Given the description of an element on the screen output the (x, y) to click on. 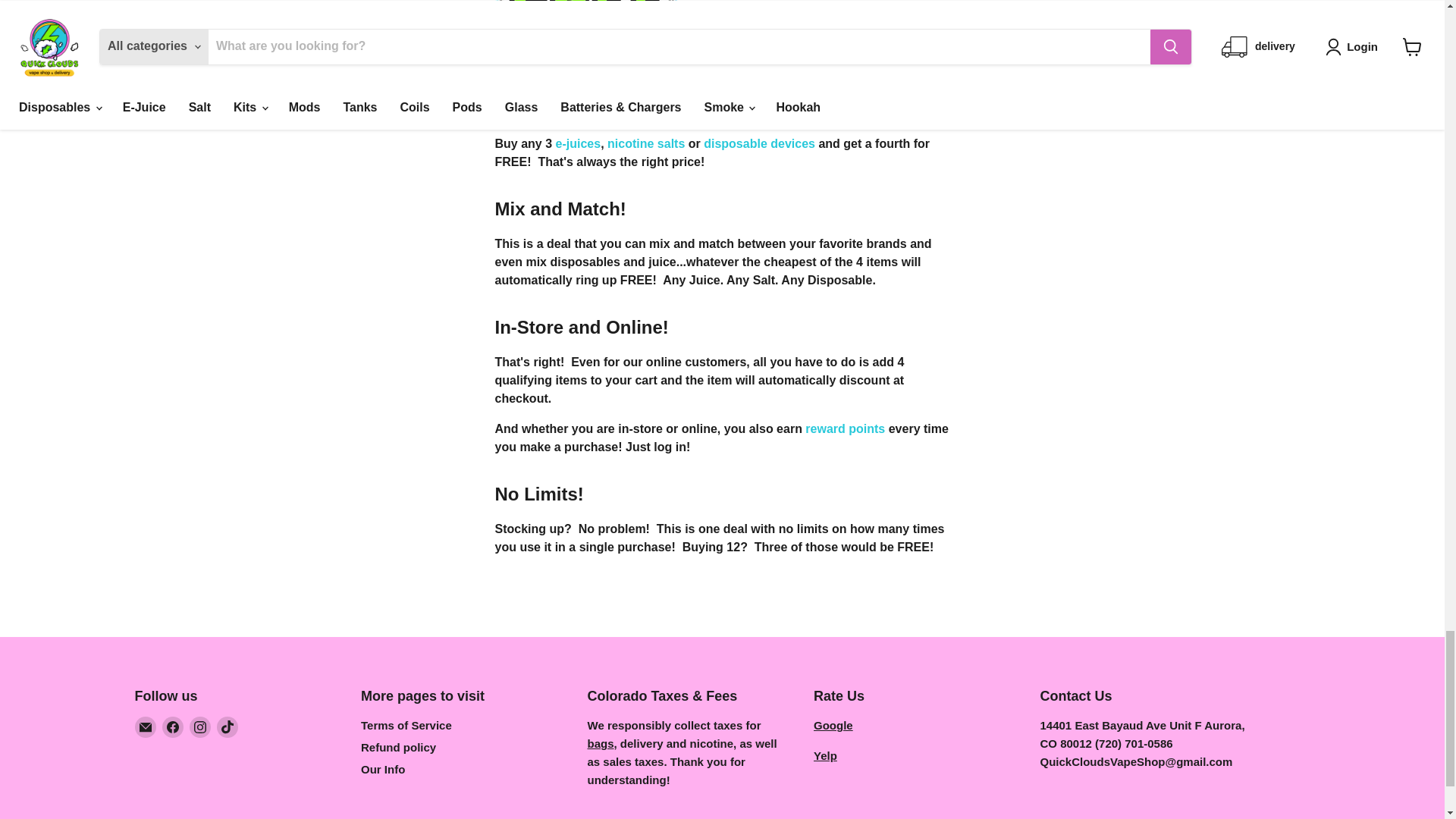
ejuice (578, 143)
salts (645, 143)
disposable devices (759, 143)
rewards home (845, 428)
Email (145, 726)
